Given the description of an element on the screen output the (x, y) to click on. 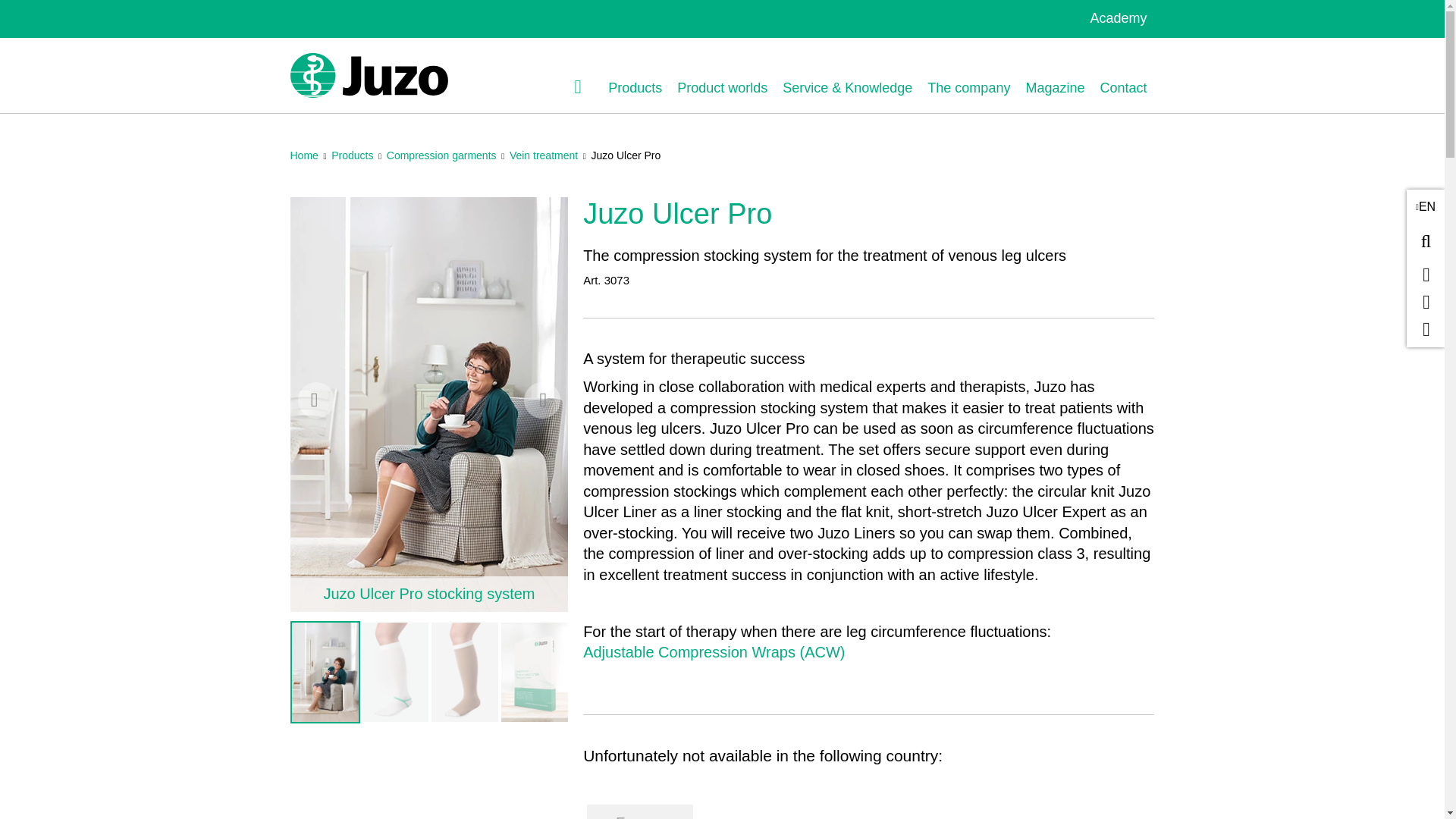
Product worlds (721, 87)
Products (634, 87)
Products (351, 155)
Compression garments (441, 155)
Academy (1118, 18)
Home (303, 155)
Vein treatment (543, 155)
Juzo (367, 75)
